Given the description of an element on the screen output the (x, y) to click on. 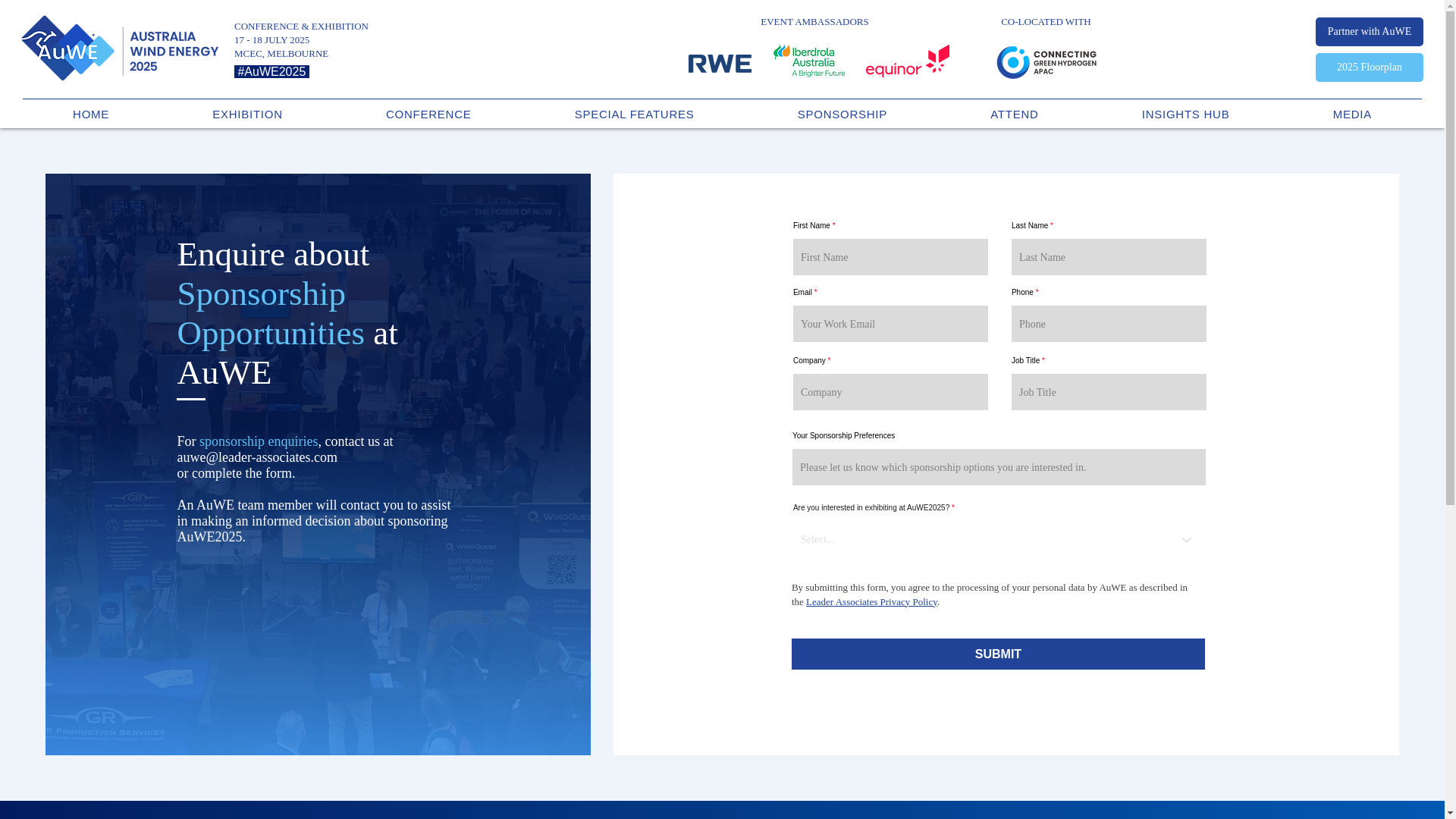
Partner with AuWE (1369, 31)
EXHIBITION (247, 113)
HOME (90, 113)
